Given the description of an element on the screen output the (x, y) to click on. 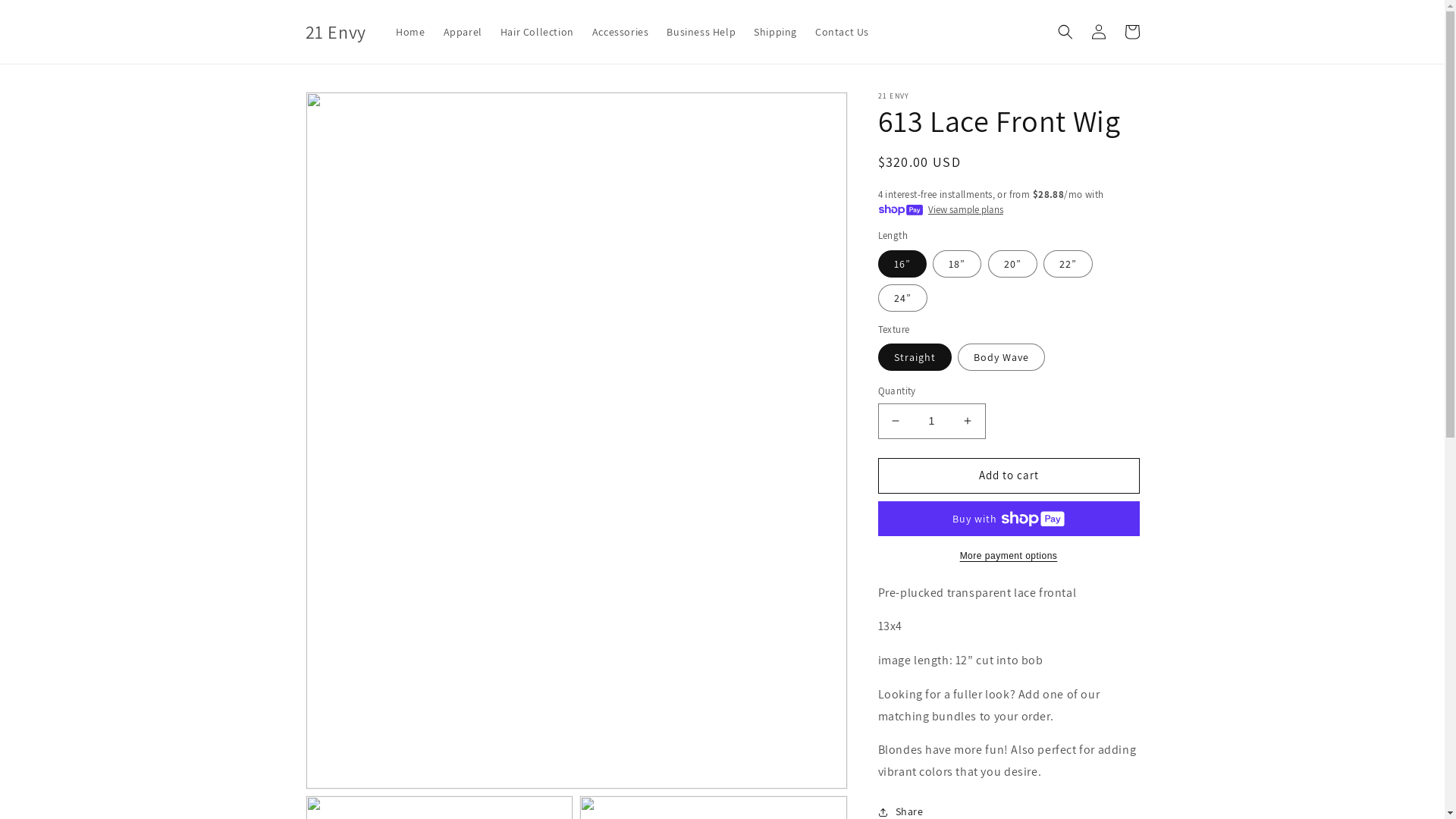
More payment options Element type: text (1008, 554)
Contact Us Element type: text (842, 31)
Add to cart Element type: text (1008, 475)
Skip to product information Element type: text (350, 108)
Business Help Element type: text (700, 31)
Cart Element type: text (1131, 31)
Log in Element type: text (1097, 31)
Home Element type: text (409, 31)
Shipping Element type: text (775, 31)
Accessories Element type: text (620, 31)
Decrease quantity for 613 Lace Front Wig Element type: text (895, 421)
Hair Collection Element type: text (537, 31)
Apparel Element type: text (462, 31)
Increase quantity for 613 Lace Front Wig Element type: text (967, 421)
21 Envy Element type: text (335, 31)
